Given the description of an element on the screen output the (x, y) to click on. 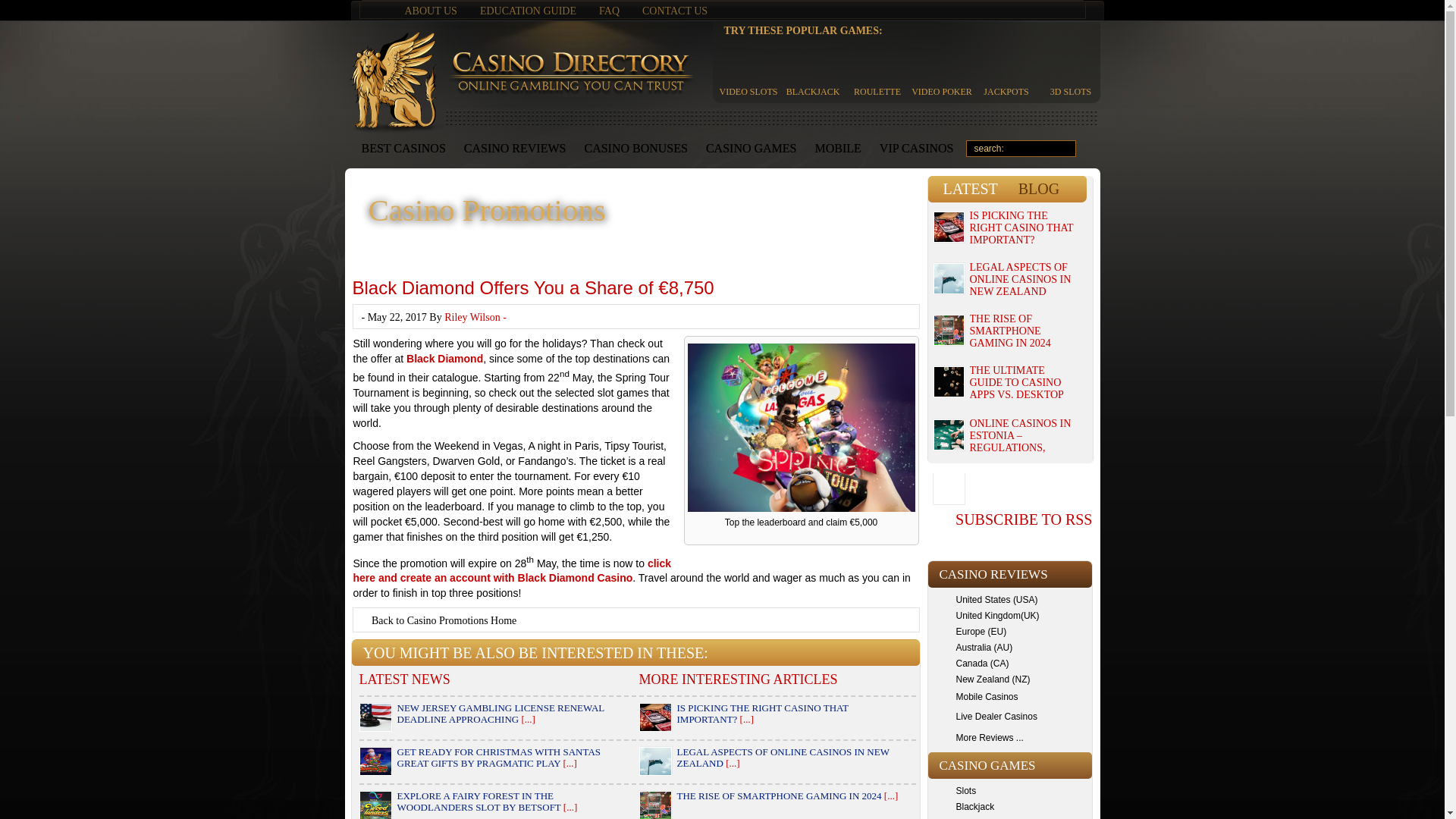
VIDEO SLOTS (748, 68)
ABOUT US (430, 11)
CONTACT US (674, 11)
CASINO BONUSES (635, 148)
ROULETTE (876, 68)
search: (1020, 148)
0 (1087, 148)
JACKPOTS (1006, 68)
VIDEO POKER (942, 68)
FAQ (609, 11)
BEST CASINOS (403, 148)
0 (1087, 148)
3D SLOTS (1071, 68)
BLACKJACK (812, 68)
EDUCATION GUIDE (528, 11)
